Given the description of an element on the screen output the (x, y) to click on. 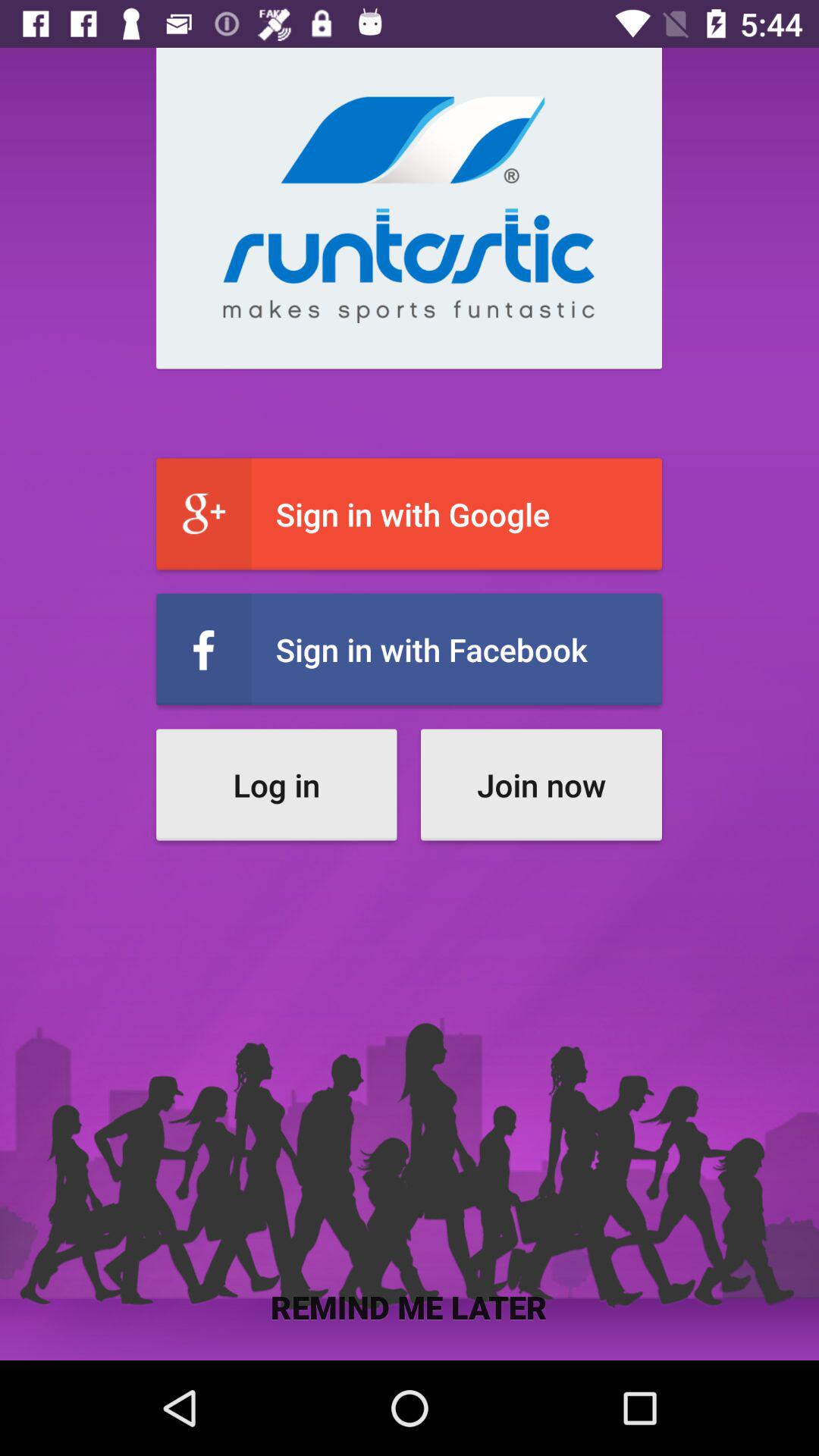
press the item above remind me later button (541, 784)
